Given the description of an element on the screen output the (x, y) to click on. 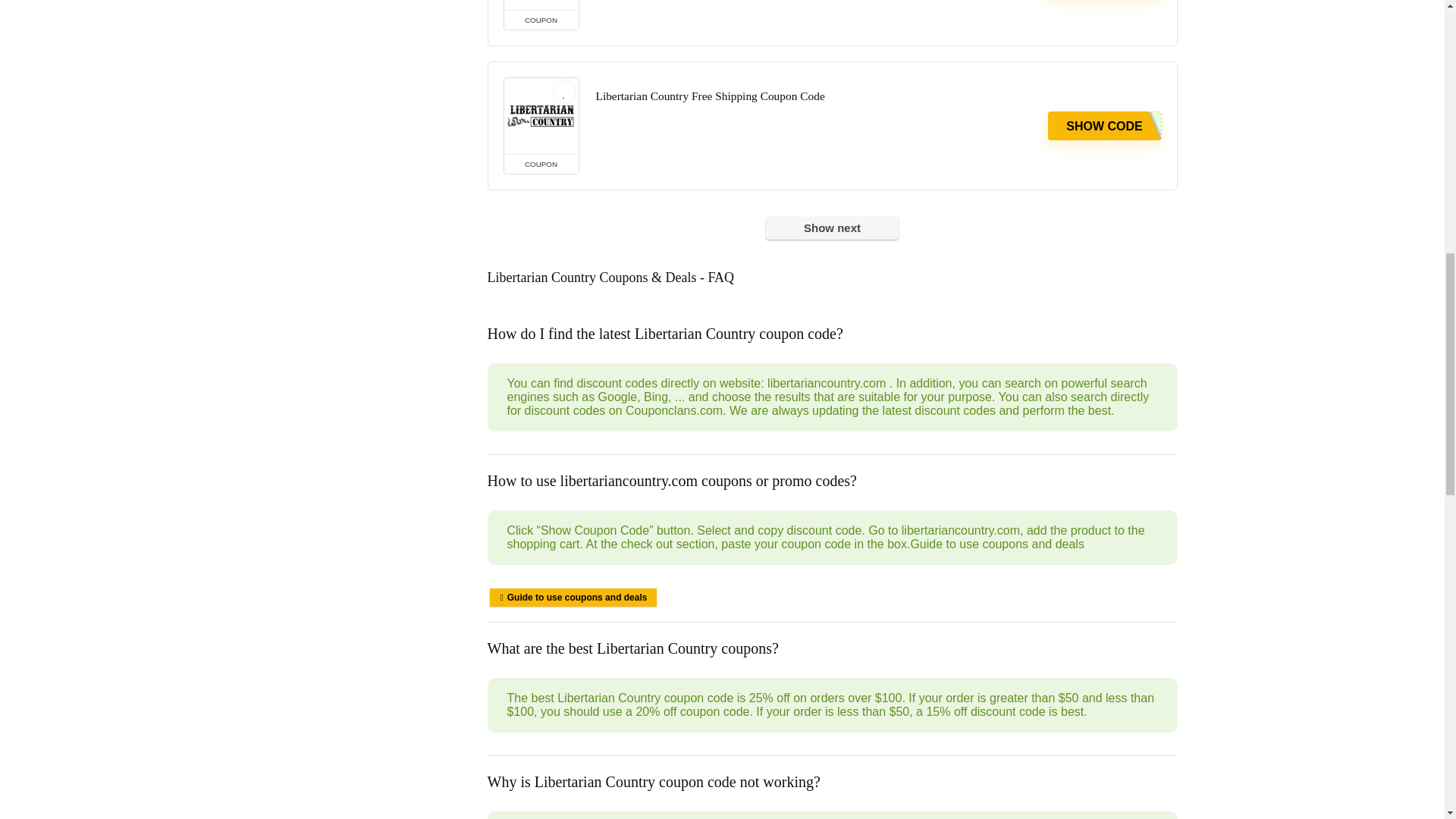
Libertarian Country Free Shipping Coupon Code (710, 95)
Libertarian Country Free Shipping Coupon Code (540, 115)
Guide to use coupons and deals (572, 597)
